Given the description of an element on the screen output the (x, y) to click on. 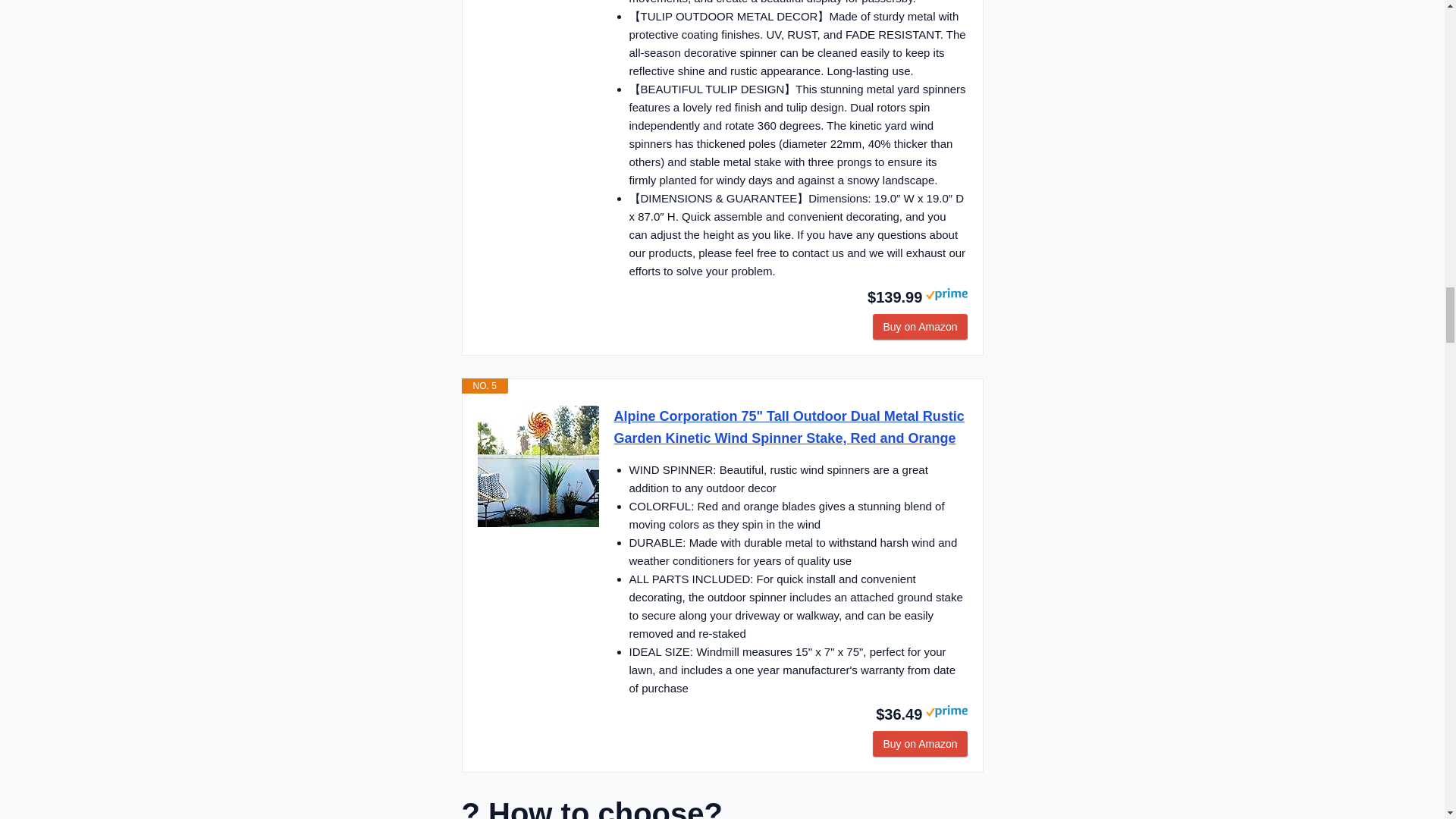
Buy on Amazon (919, 743)
Buy on Amazon (919, 326)
